Given the description of an element on the screen output the (x, y) to click on. 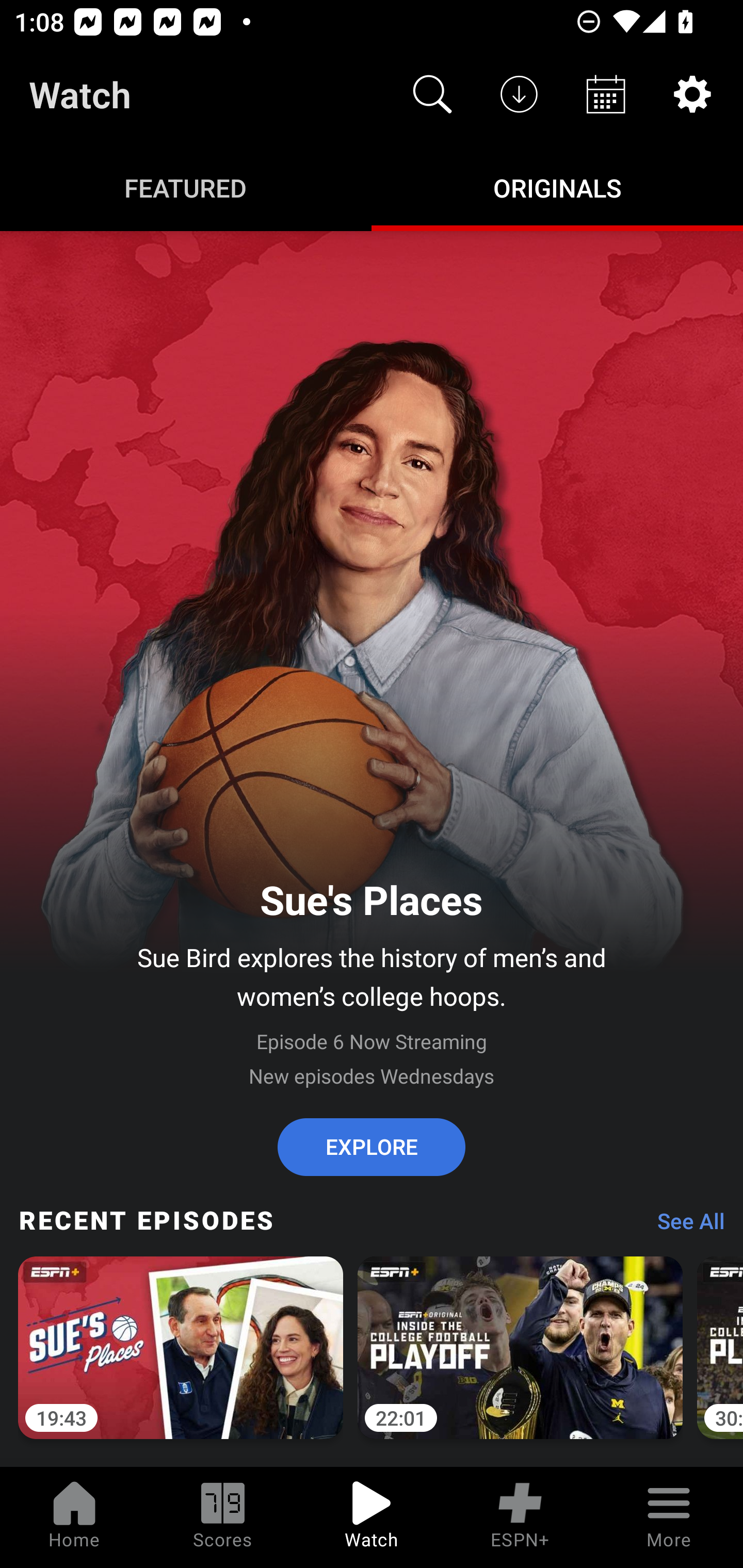
Search (432, 93)
Downloads (518, 93)
Schedule (605, 93)
Settings (692, 93)
Featured FEATURED (185, 187)
EXPLORE (371, 1146)
See All (683, 1225)
Home (74, 1517)
Scores (222, 1517)
ESPN+ (519, 1517)
More (668, 1517)
